Given the description of an element on the screen output the (x, y) to click on. 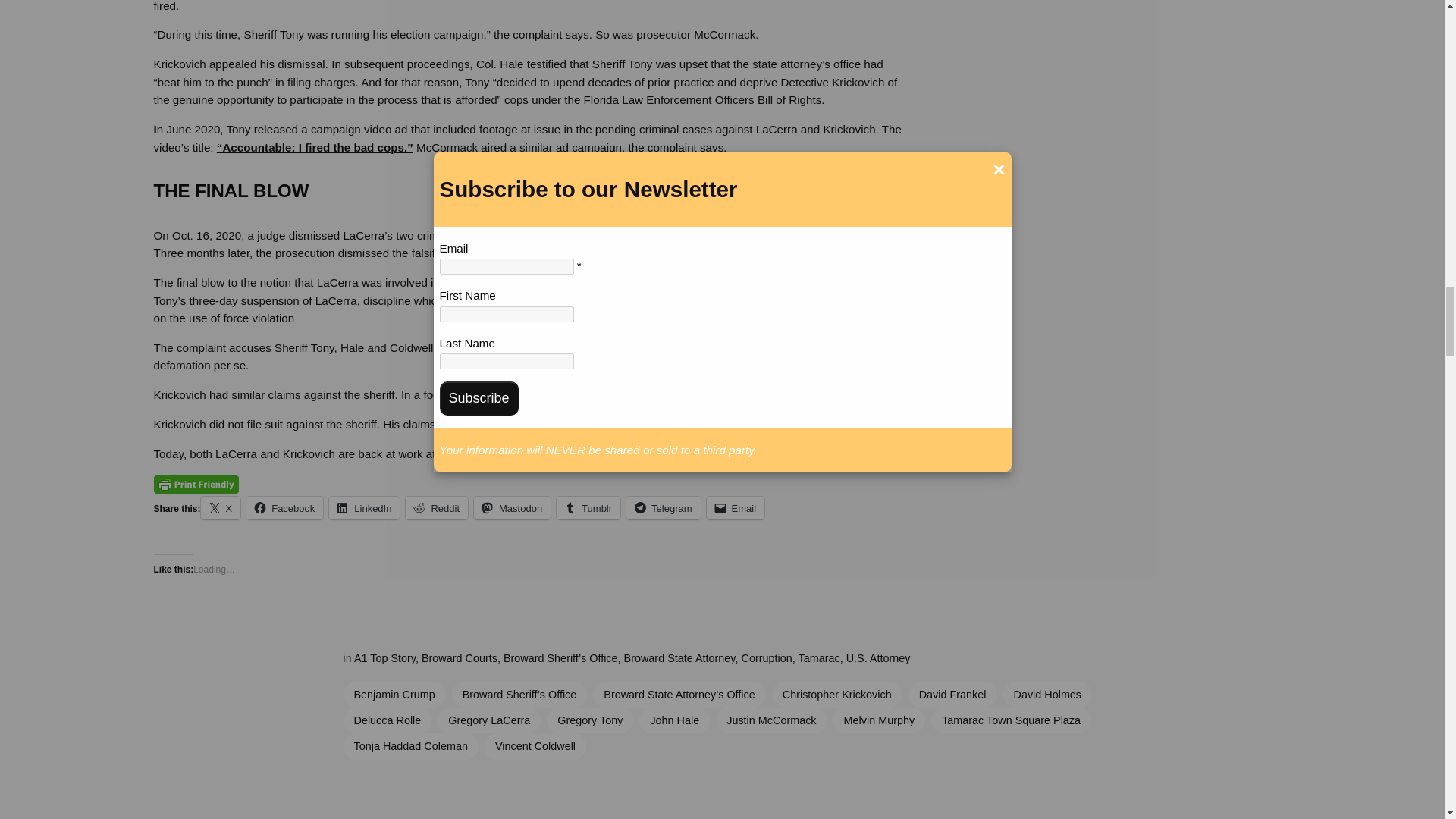
Click to share on Telegram (663, 507)
Click to share on LinkedIn (363, 507)
Click to share on Facebook (284, 507)
Click to share on Reddit (436, 507)
Click to share on Tumblr (588, 507)
Click to share on Mastodon (512, 507)
Click to share on X (220, 507)
